Given the description of an element on the screen output the (x, y) to click on. 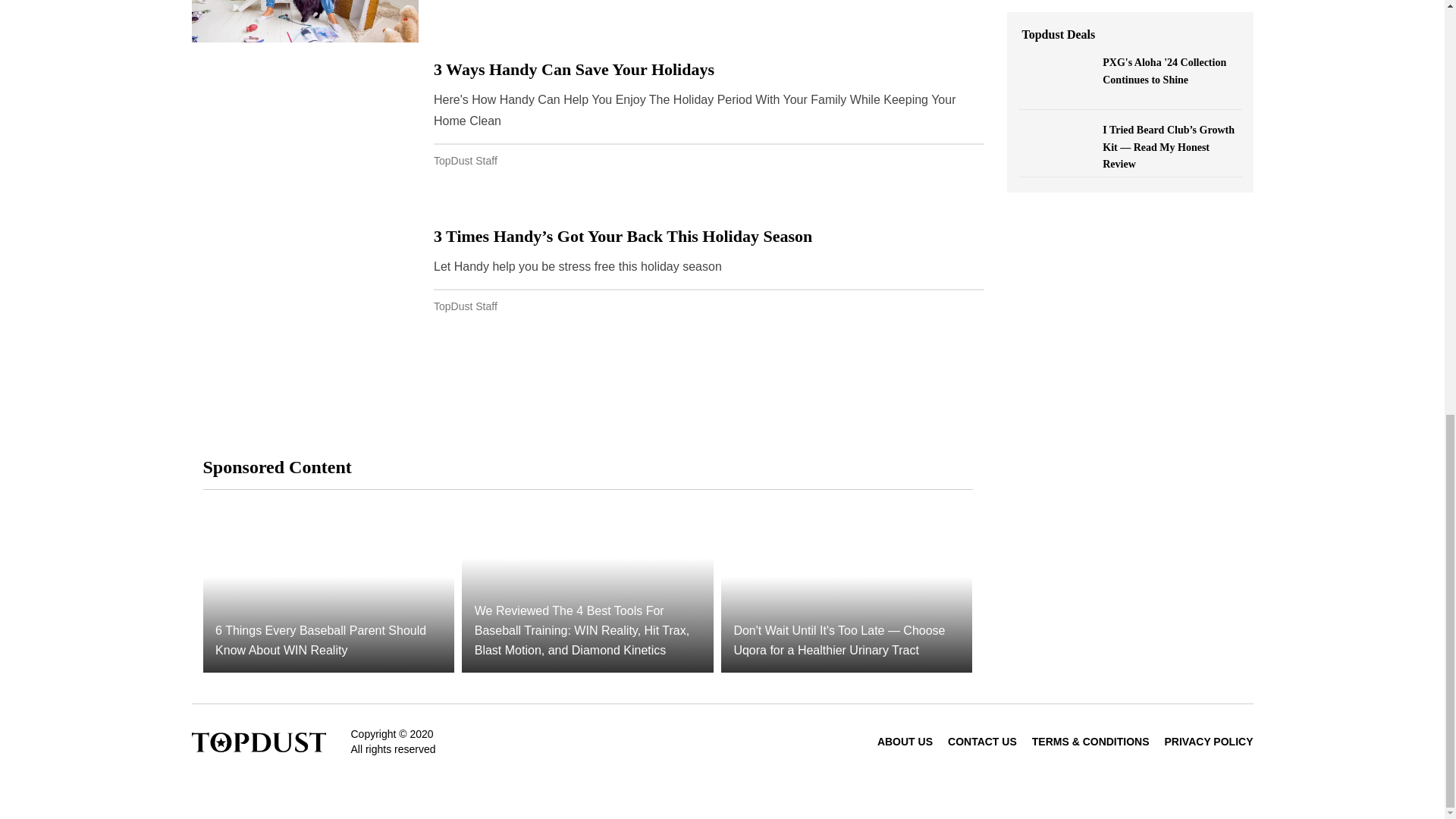
Logo (258, 740)
